Given the description of an element on the screen output the (x, y) to click on. 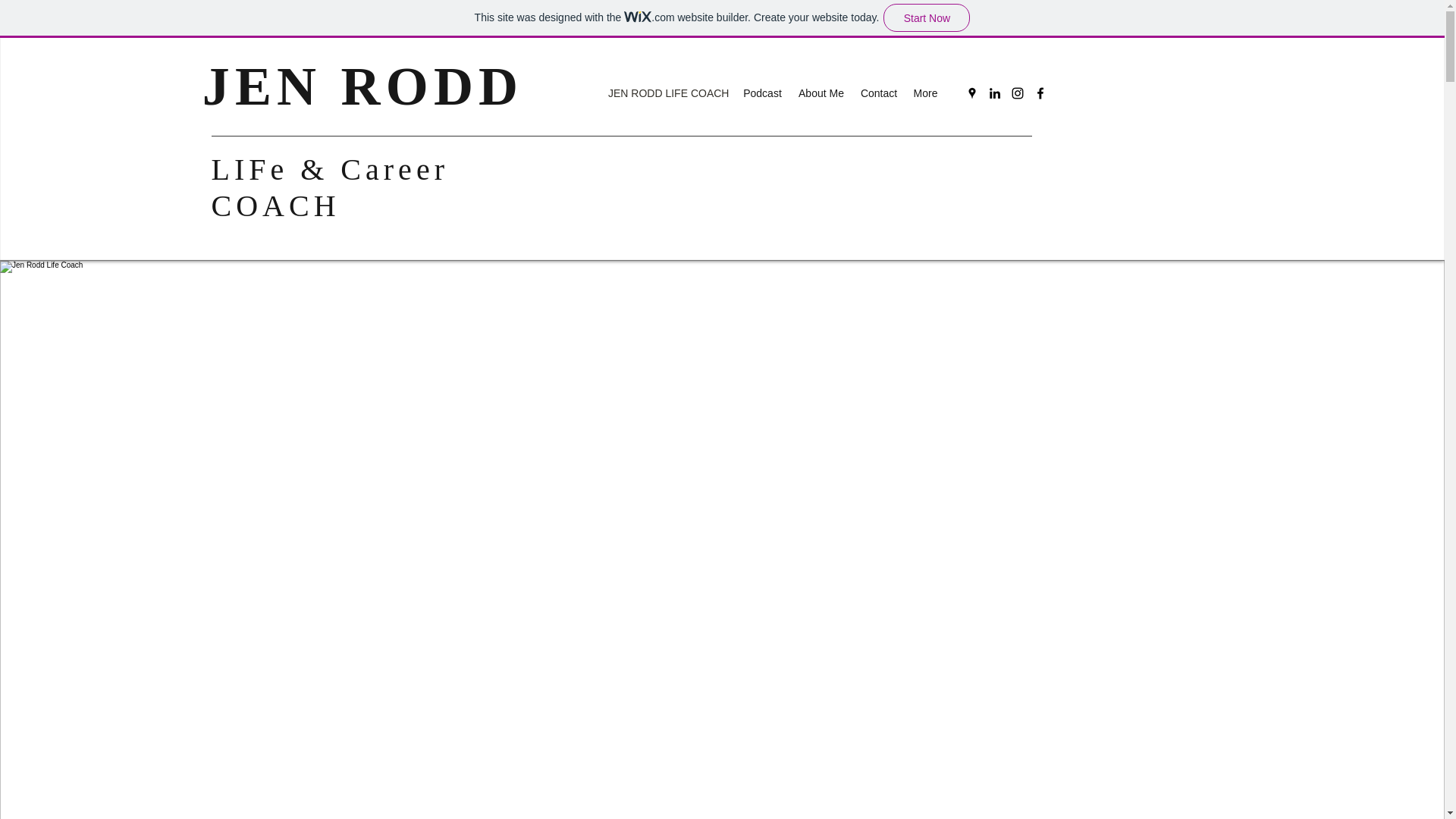
Podcast (762, 92)
JEN RODD LIFE COACH (667, 92)
About Me (820, 92)
Contact (878, 92)
